Given the description of an element on the screen output the (x, y) to click on. 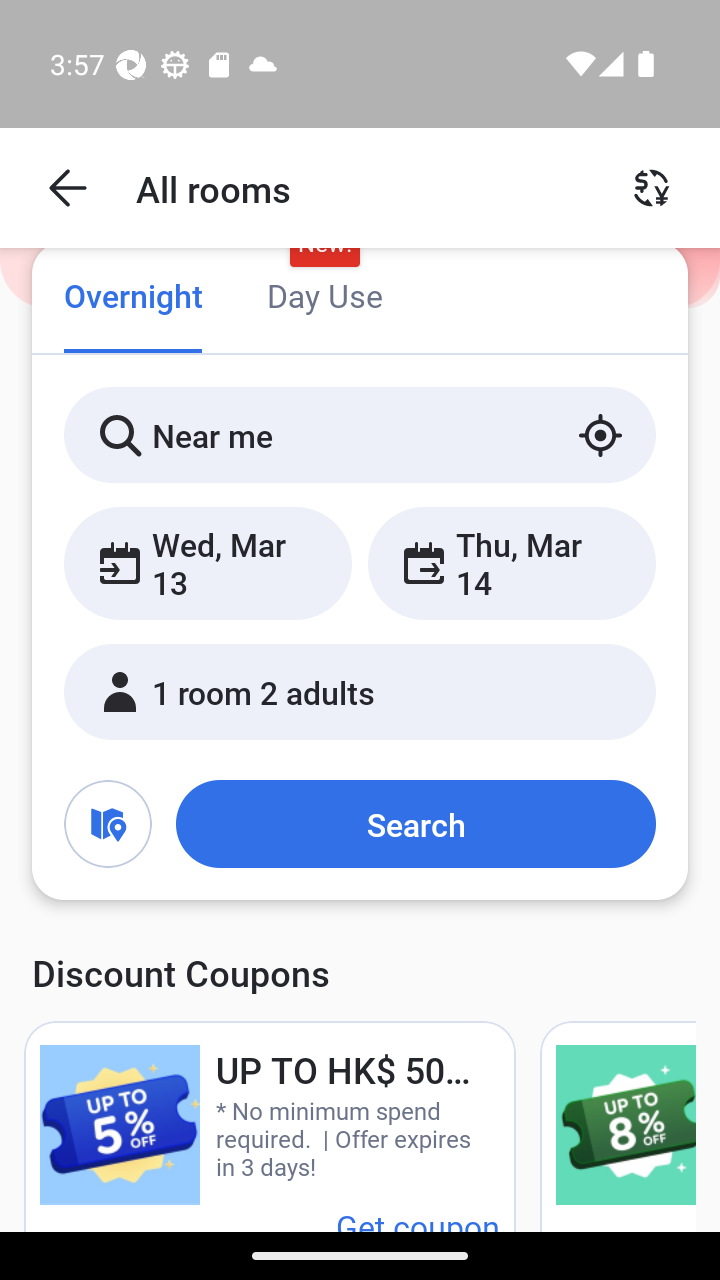
Day Use (324, 298)
Near me (359, 434)
Wed, Mar 13 (208, 562)
Thu, Mar 14 (511, 562)
1 room 2 adults (359, 691)
Search (415, 823)
